Given the description of an element on the screen output the (x, y) to click on. 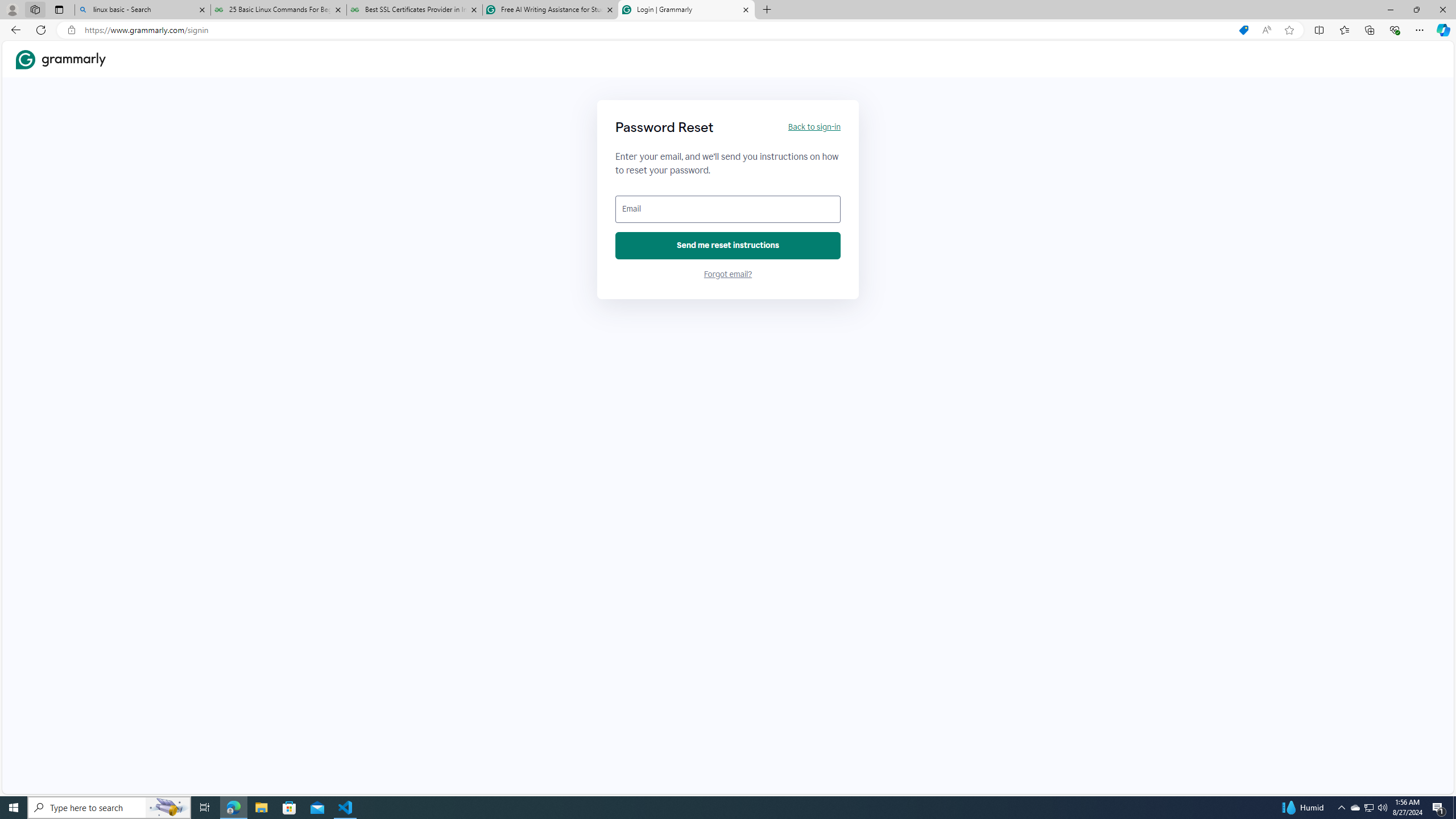
Email (727, 209)
Free AI Writing Assistance for Students | Grammarly (550, 9)
Grammarly Home (61, 58)
25 Basic Linux Commands For Beginners - GeeksforGeeks (277, 9)
Forgot email? (727, 274)
